Given the description of an element on the screen output the (x, y) to click on. 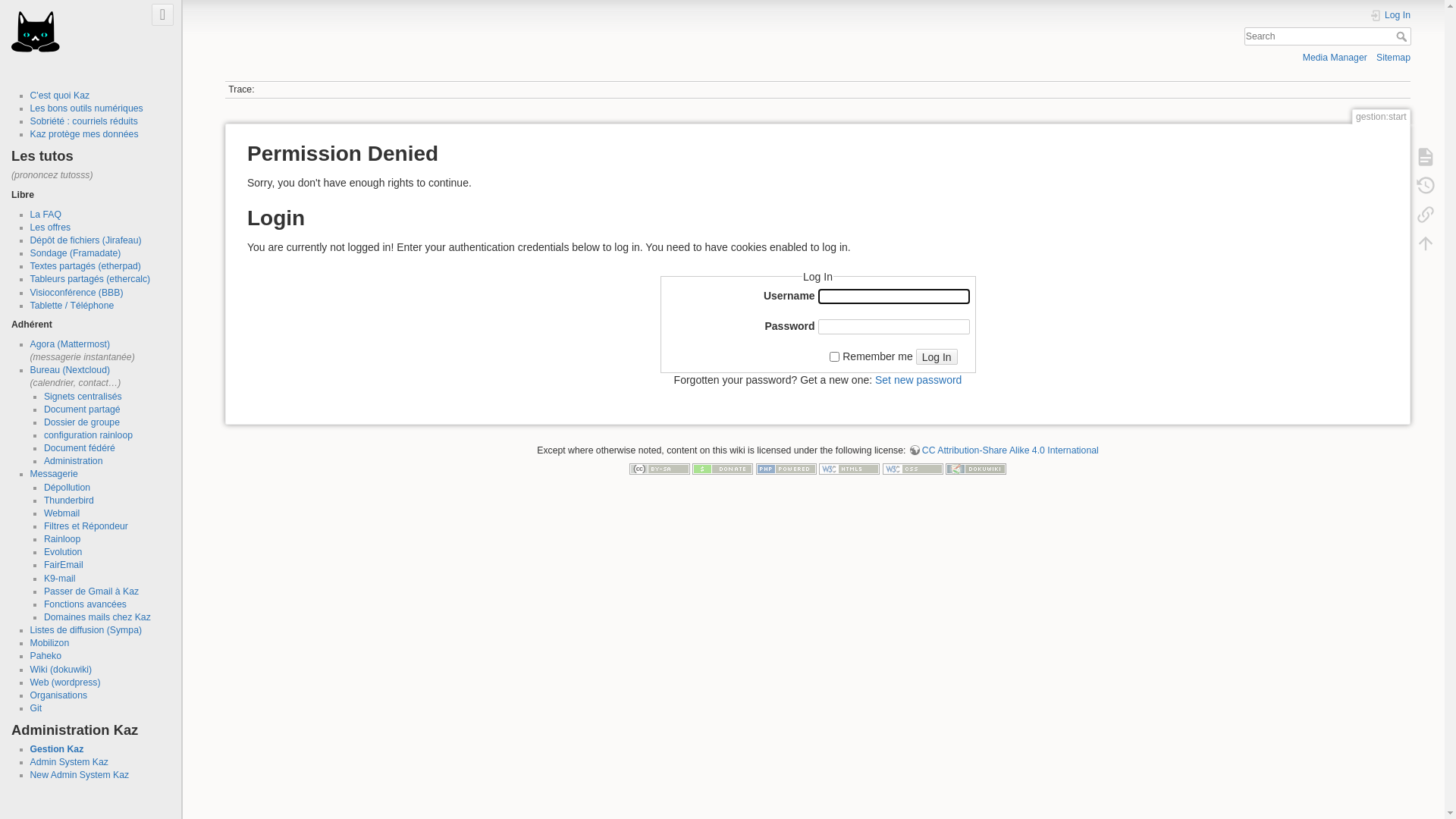
Show page [v] Element type: hover (1425, 155)
Listes de diffusion (Sympa) Element type: text (86, 629)
La FAQ Element type: text (46, 214)
Gestion Kaz Element type: text (57, 748)
Log In Element type: text (1389, 15)
Web (wordpress) Element type: text (65, 682)
Paheko Element type: text (46, 655)
Search Element type: text (1403, 36)
CC Attribution-Share Alike 4.0 International Element type: text (1003, 450)
Powered by PHP Element type: hover (786, 468)
FairEmail Element type: text (63, 564)
Organisations Element type: text (58, 695)
Log In Element type: text (936, 356)
Dossier de groupe Element type: text (81, 422)
Rainloop Element type: text (61, 538)
Set new password Element type: text (918, 379)
Back to top [t] Element type: hover (1425, 242)
[H] Element type: hover (35, 30)
Domaines mails chez Kaz Element type: text (96, 616)
[F] Element type: hover (1327, 36)
Messagerie Element type: text (54, 473)
Webmail Element type: text (61, 513)
New Admin System Kaz Element type: text (79, 774)
configuration rainloop Element type: text (87, 434)
Wiki (dokuwiki) Element type: text (61, 669)
Backlinks Element type: hover (1425, 213)
Administration Element type: text (73, 460)
Thunderbird Element type: text (68, 500)
Git Element type: text (36, 707)
K9-mail Element type: text (59, 578)
Valid HTML5 Element type: hover (849, 468)
Bureau (Nextcloud) Element type: text (70, 369)
Les offres Element type: text (50, 227)
Old revisions [o] Element type: hover (1425, 184)
Admin System Kaz Element type: text (69, 761)
Evolution Element type: text (62, 551)
Sondage (Framadate) Element type: text (75, 252)
C'est quoi Kaz Element type: text (60, 95)
Mobilizon Element type: text (49, 642)
Agora (Mattermost) Element type: text (70, 343)
Driven by DokuWiki Element type: hover (975, 468)
Media Manager Element type: text (1334, 57)
Valid CSS Element type: hover (912, 468)
Donate Element type: hover (722, 468)
Sitemap Element type: text (1393, 57)
